Given the description of an element on the screen output the (x, y) to click on. 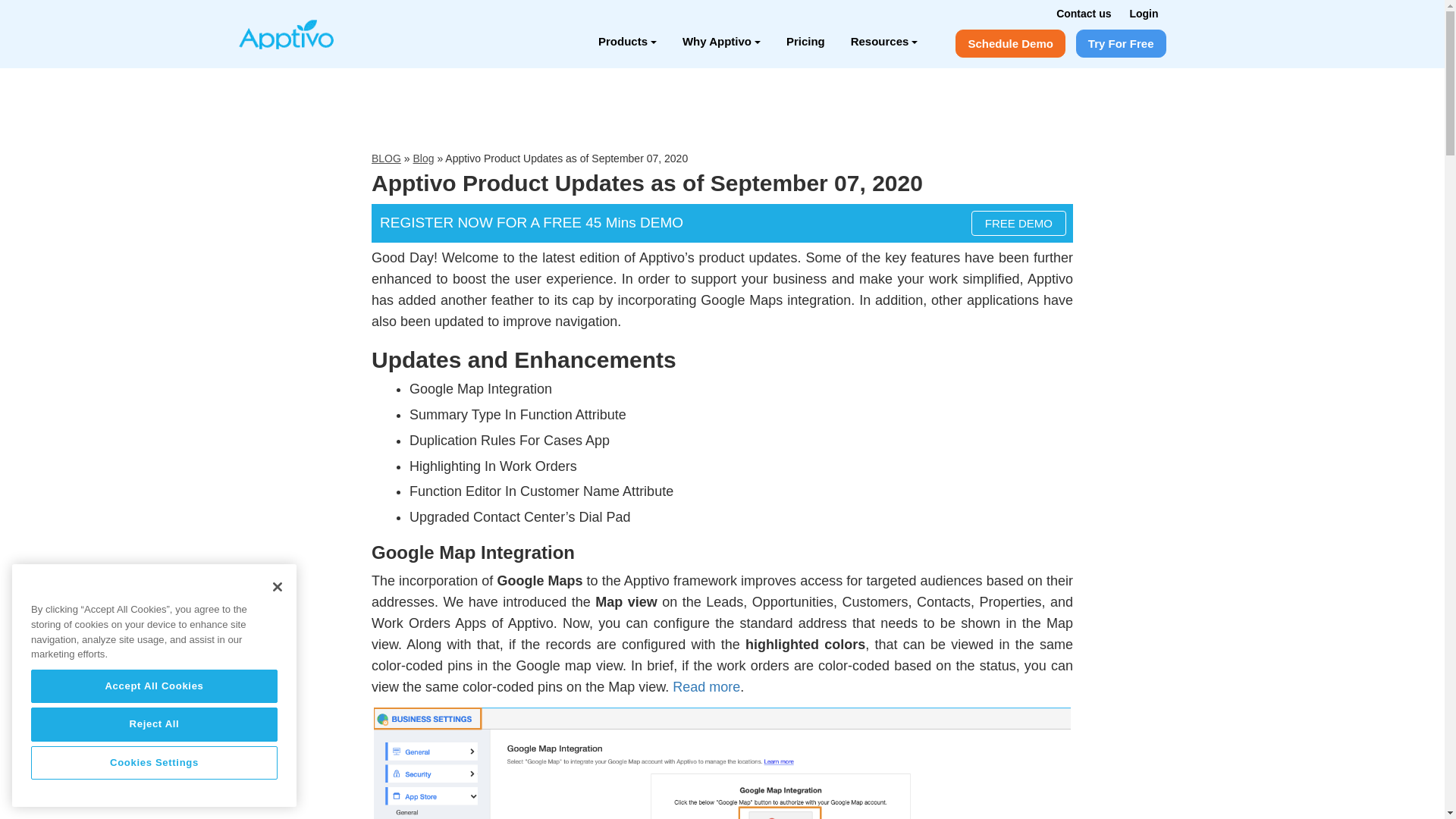
Login (1143, 13)
Contact us (1083, 13)
Products (627, 41)
